Given the description of an element on the screen output the (x, y) to click on. 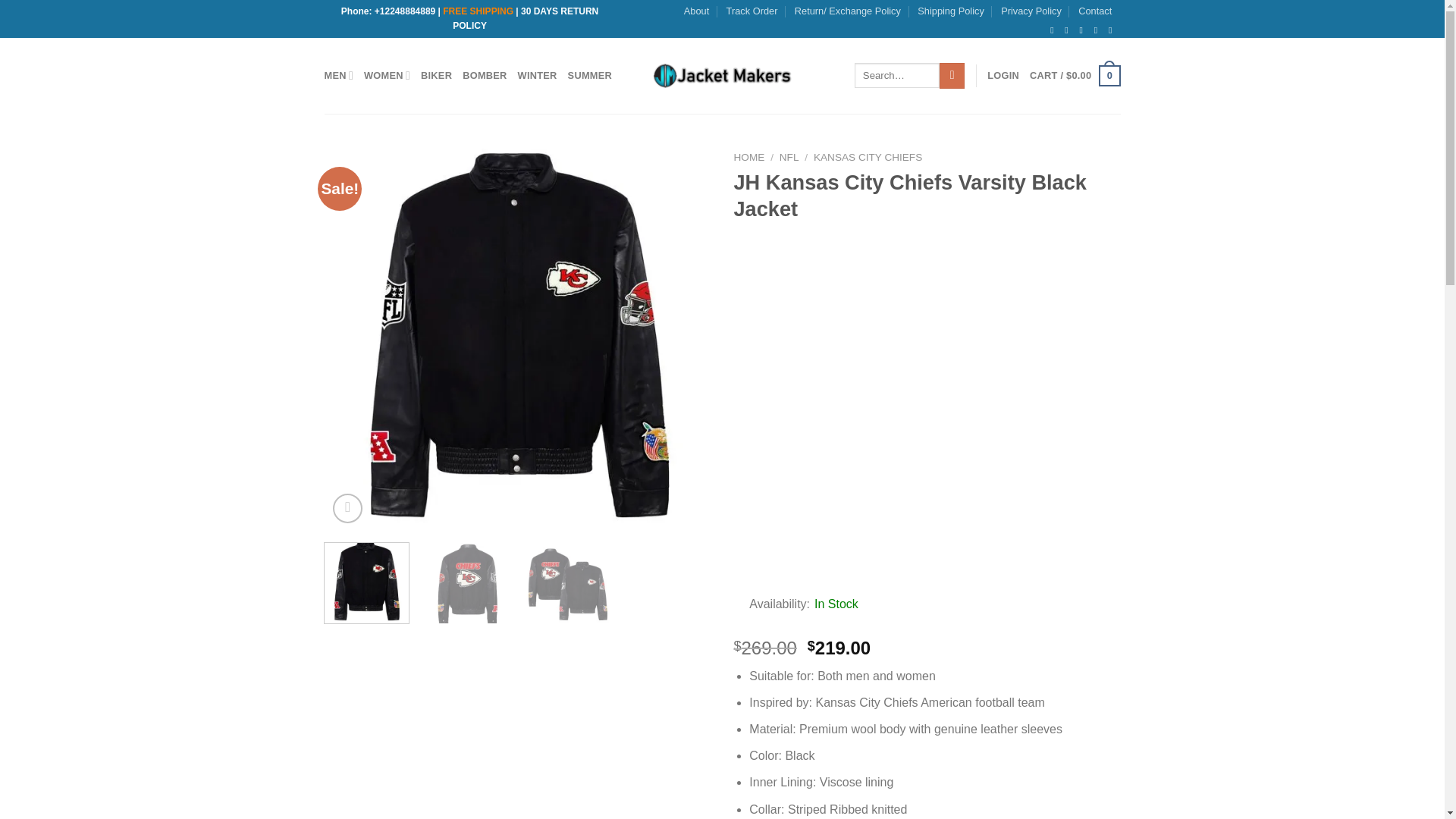
Track Order (751, 11)
Privacy Policy (1031, 11)
Cart (1074, 75)
Shipping Policy (950, 11)
Zoom (347, 508)
About (696, 11)
Contact (1095, 11)
MEN (338, 75)
